Given the description of an element on the screen output the (x, y) to click on. 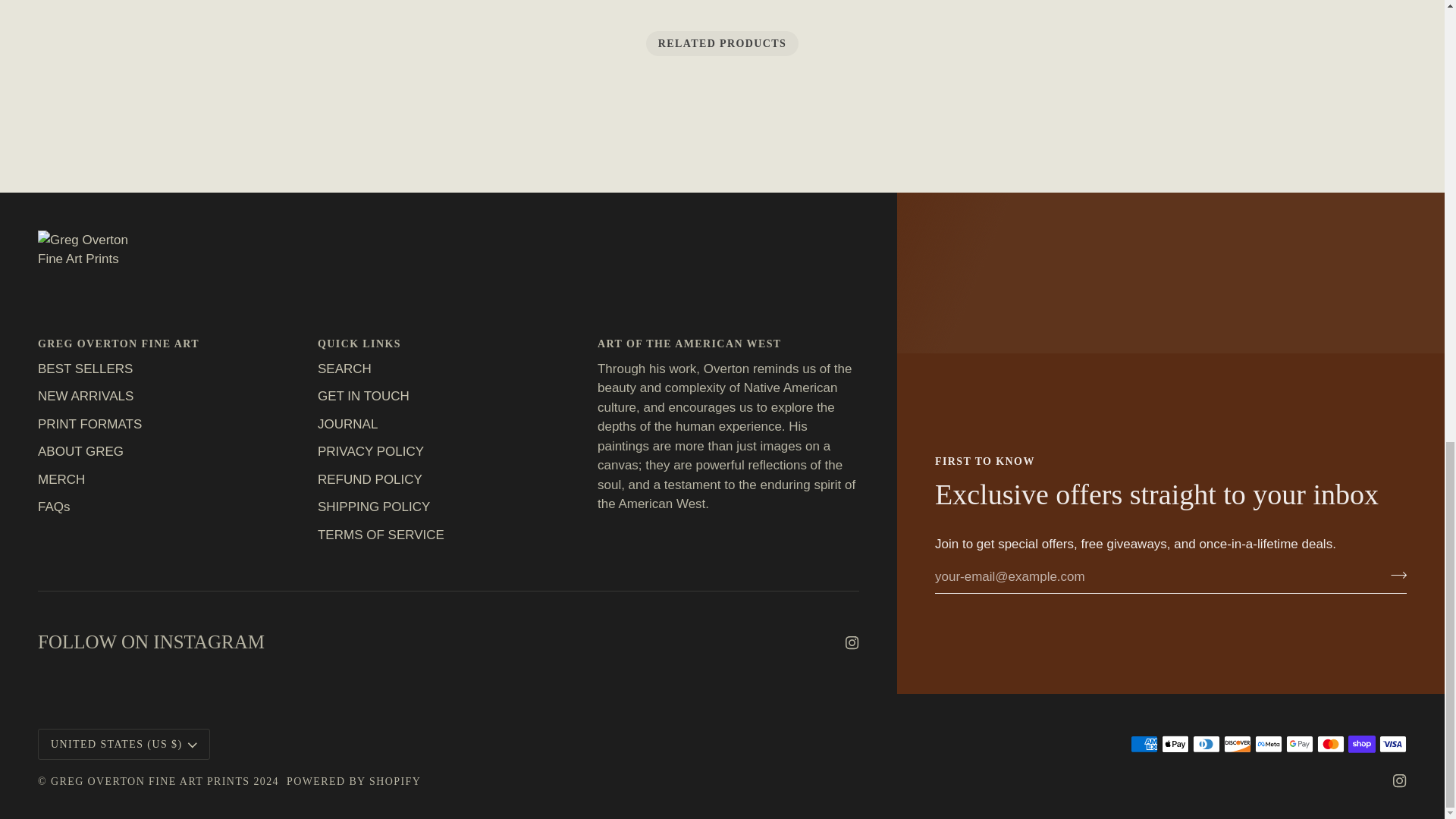
VISA (1392, 743)
GOOGLE PAY (1299, 743)
DINERS CLUB (1206, 743)
APPLE PAY (1175, 743)
Instagram (1399, 780)
Instagram (852, 643)
META PAY (1268, 743)
RELATED PRODUCTS (722, 43)
SHOP PAY (1361, 743)
MASTERCARD (1330, 743)
AMERICAN EXPRESS (1144, 743)
DISCOVER (1237, 743)
